Given the description of an element on the screen output the (x, y) to click on. 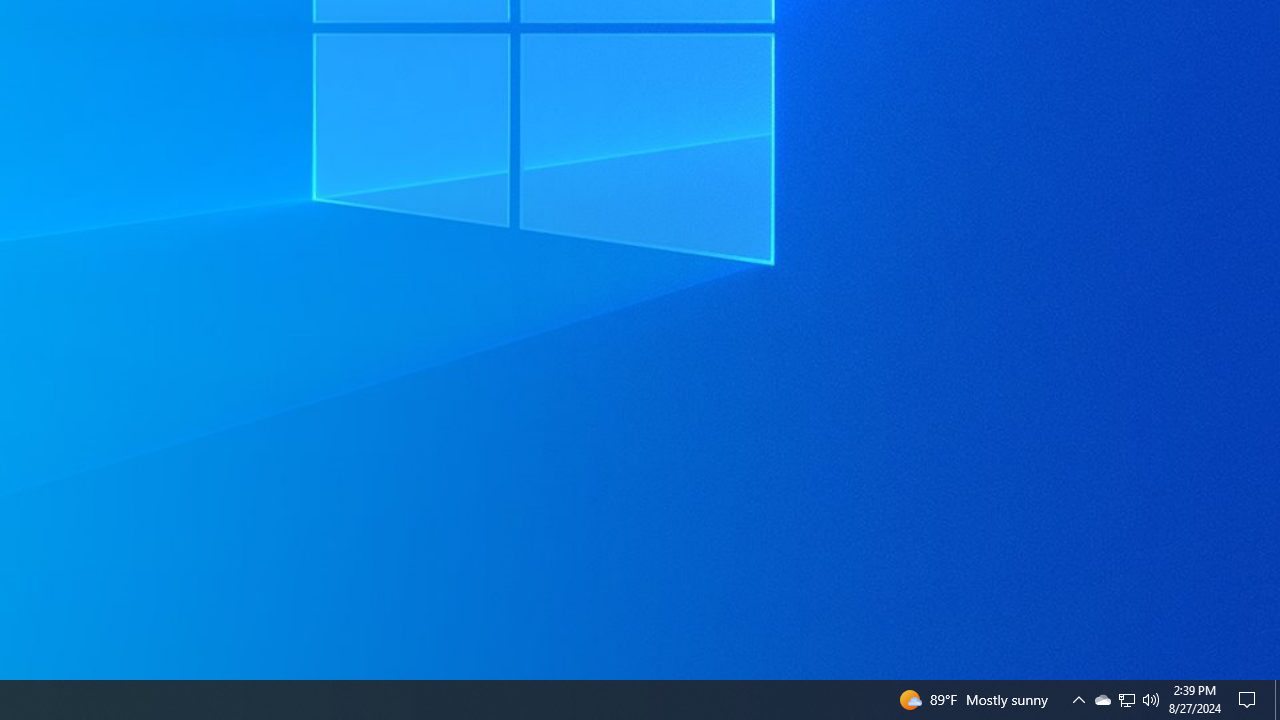
Q2790: 100% (1151, 699)
Notification Chevron (1078, 699)
Action Center, No new notifications (1250, 699)
Show desktop (1126, 699)
User Promoted Notification Area (1277, 699)
